Given the description of an element on the screen output the (x, y) to click on. 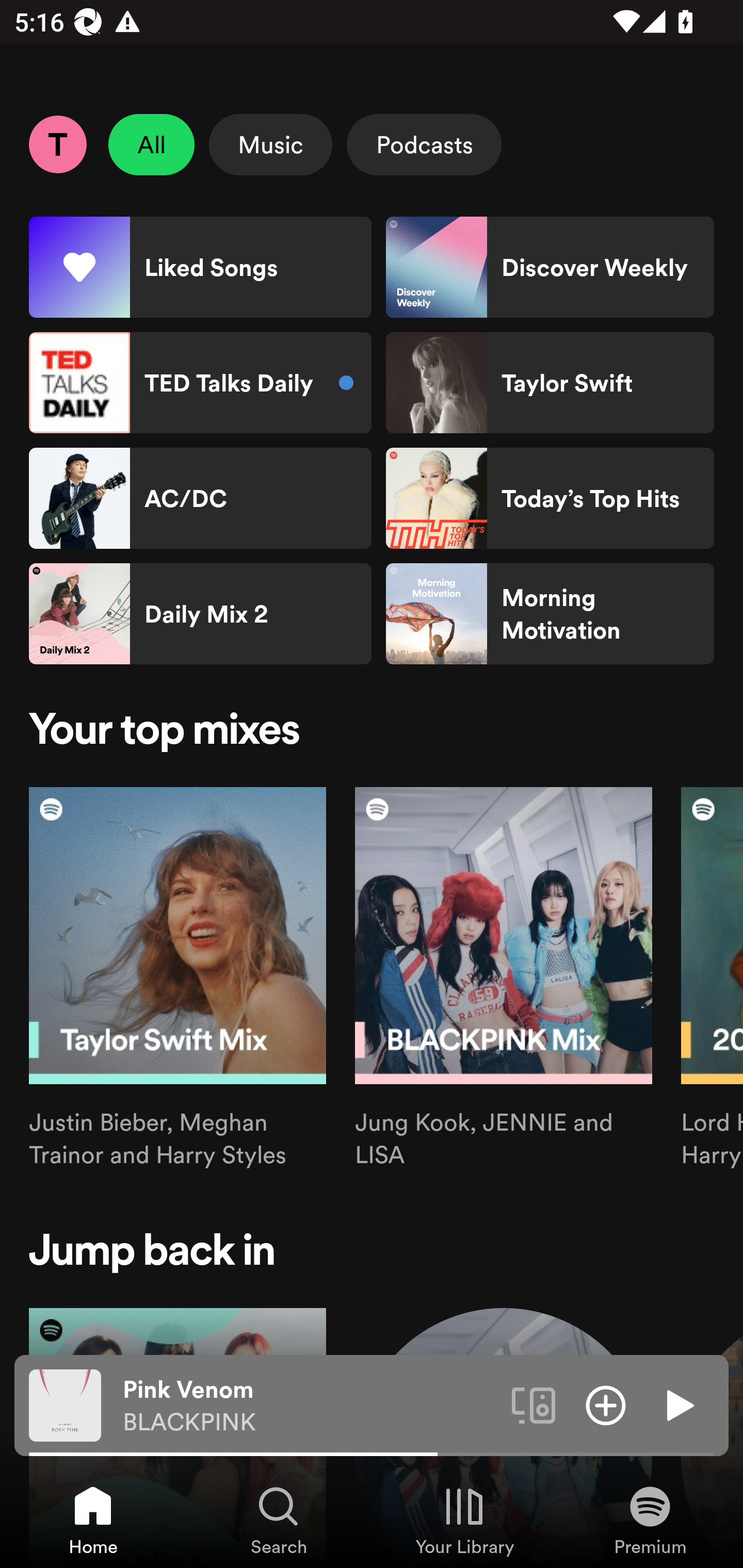
Profile (57, 144)
All Unselect All (151, 144)
Music Select Music (270, 144)
Podcasts Select Podcasts (423, 144)
Liked Songs Shortcut Liked Songs (199, 267)
Discover Weekly Shortcut Discover Weekly (549, 267)
Taylor Swift Shortcut Taylor Swift (549, 382)
AC/DC Shortcut AC/DC (199, 498)
Today’s Top Hits Shortcut Today’s Top Hits (549, 498)
Daily Mix 2 Shortcut Daily Mix 2 (199, 613)
Morning Motivation Shortcut Morning Motivation (549, 613)
Pink Venom BLACKPINK (309, 1405)
The cover art of the currently playing track (64, 1404)
Connect to a device. Opens the devices menu (533, 1404)
Add item (605, 1404)
Play (677, 1404)
Home, Tab 1 of 4 Home Home (92, 1519)
Search, Tab 2 of 4 Search Search (278, 1519)
Your Library, Tab 3 of 4 Your Library Your Library (464, 1519)
Premium, Tab 4 of 4 Premium Premium (650, 1519)
